Given the description of an element on the screen output the (x, y) to click on. 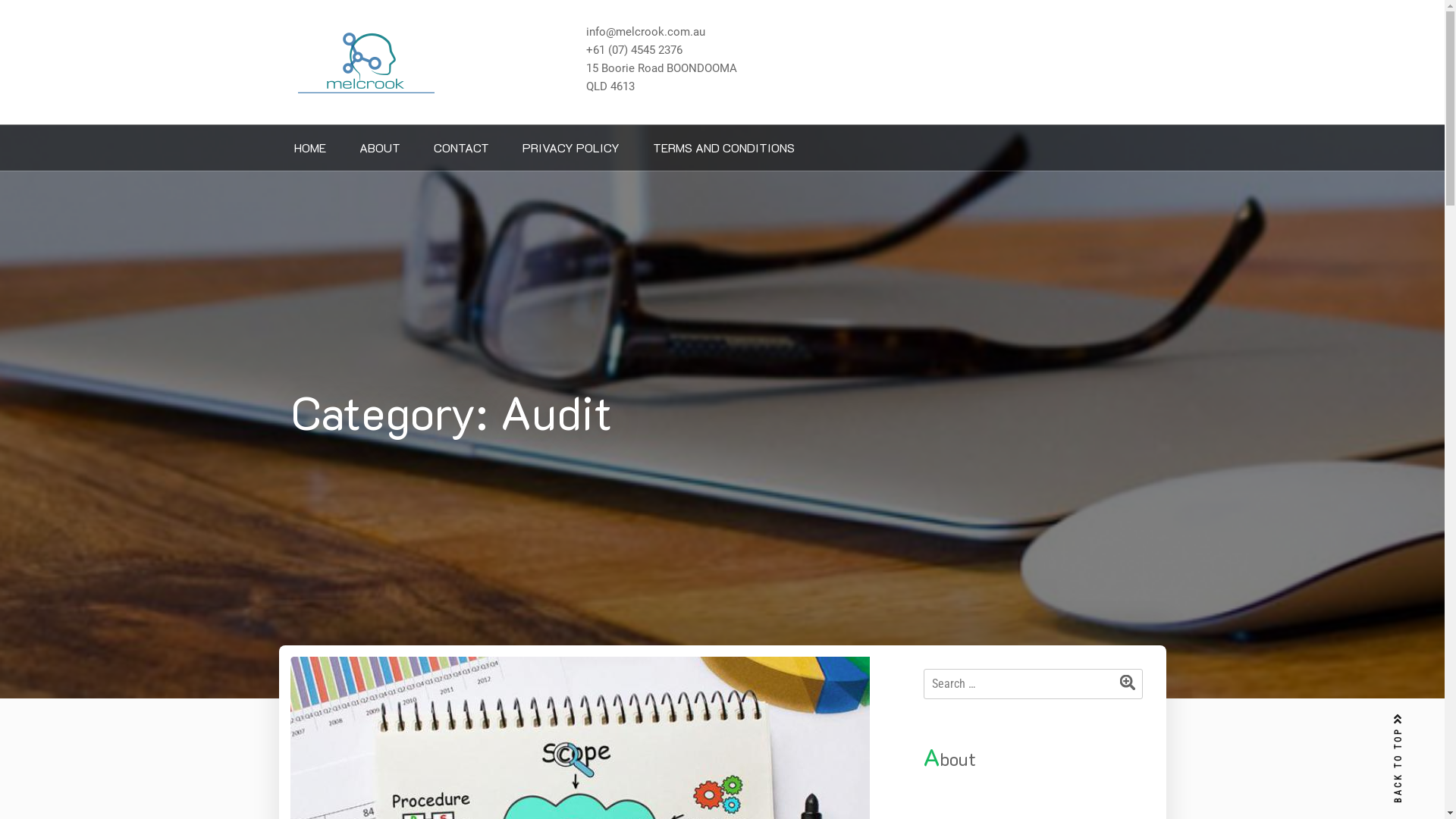
ABOUT Element type: text (379, 147)
CONTACT Element type: text (461, 147)
PRIVACY POLICY Element type: text (569, 147)
Search Element type: text (1130, 684)
HOME Element type: text (310, 147)
TERMS AND CONDITIONS Element type: text (723, 147)
